Given the description of an element on the screen output the (x, y) to click on. 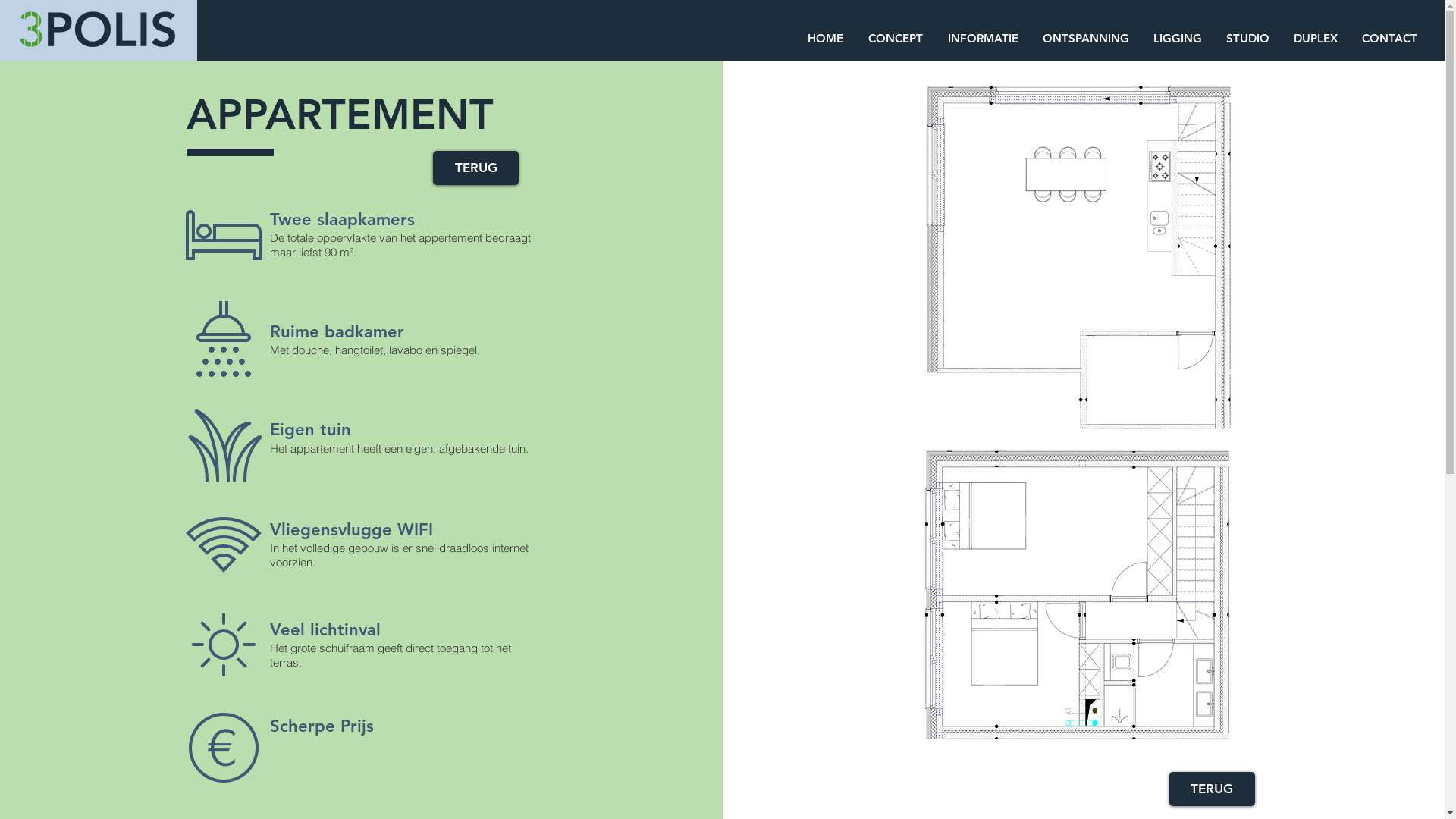
CONTACT Element type: text (1389, 38)
TERUG Element type: text (475, 167)
HOME Element type: text (824, 38)
ONTSPANNING Element type: text (1085, 38)
LIGGING Element type: text (1177, 38)
DUPLEX Element type: text (1315, 38)
TERUG Element type: text (1212, 788)
INFORMATIE Element type: text (982, 38)
STUDIO Element type: text (1247, 38)
CONCEPT Element type: text (895, 38)
